Given the description of an element on the screen output the (x, y) to click on. 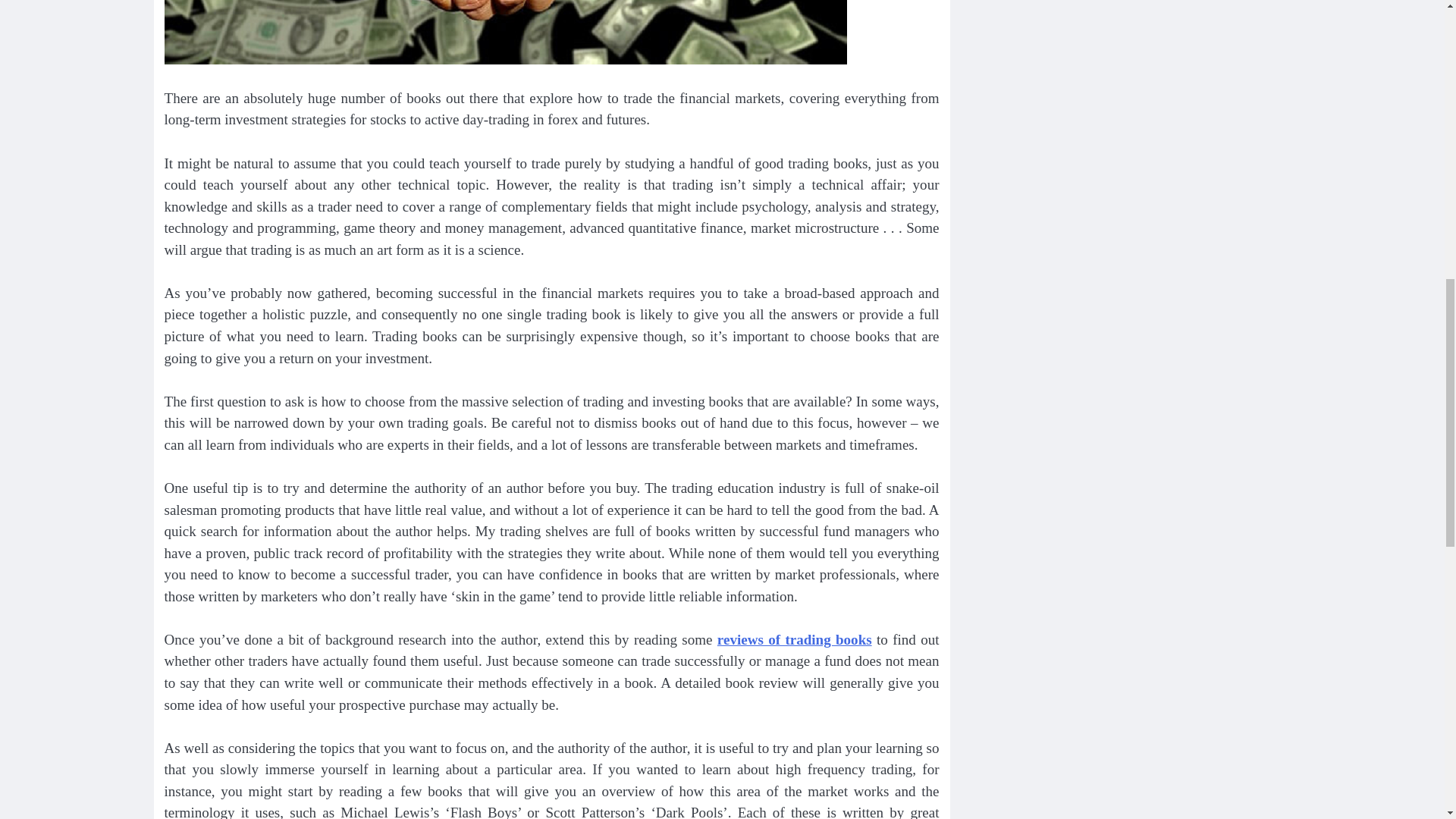
reviews of trading books (794, 639)
